Given the description of an element on the screen output the (x, y) to click on. 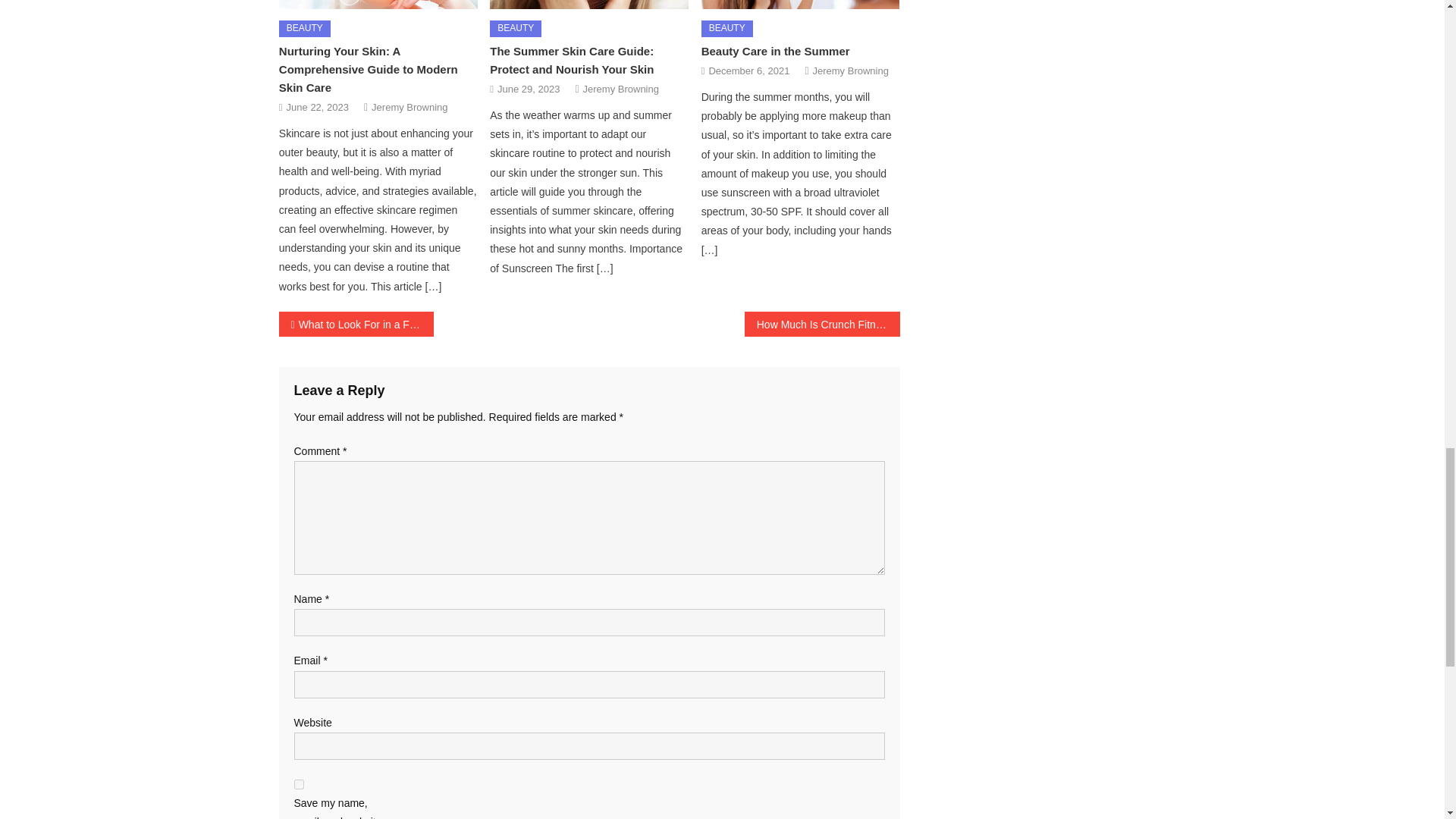
Beauty Care in the Summer (775, 51)
BEAUTY (726, 28)
How Much Is Crunch Fitness? (821, 324)
Beauty Care in the Summer (800, 4)
yes (299, 784)
BEAUTY (304, 28)
June 29, 2023 (528, 88)
June 22, 2023 (317, 107)
The Summer Skin Care Guide: Protect and Nourish Your Skin (571, 60)
Jeremy Browning (850, 70)
